Given the description of an element on the screen output the (x, y) to click on. 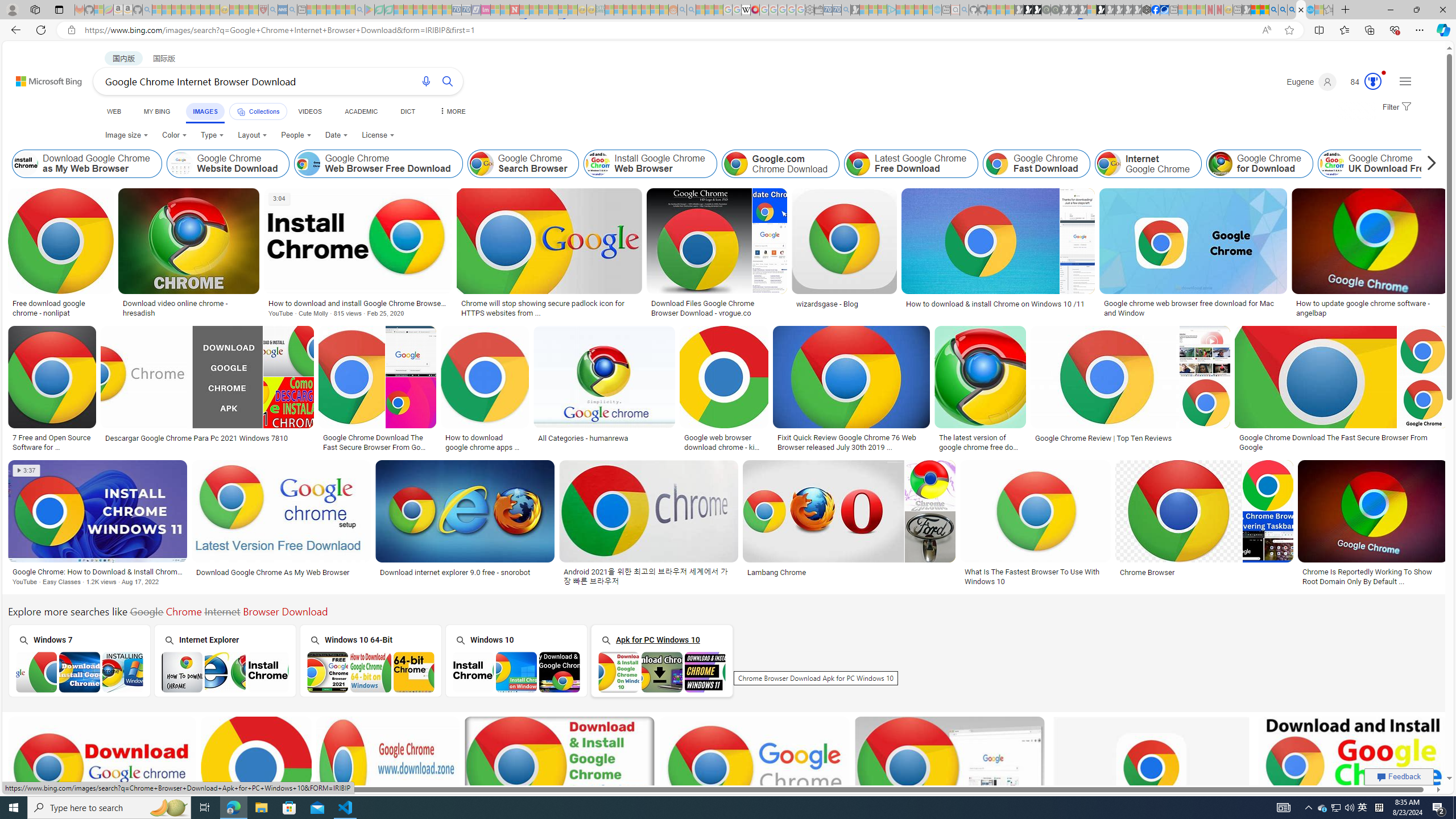
License (377, 135)
How to download & install Chrome on Windows 10 /11 (994, 303)
Download Google Chrome as My Web Browser (87, 163)
Google Chrome Internet Browser Download - Search Images (1300, 9)
Chrome Browser (1203, 571)
Nordace | Facebook (1154, 9)
Dropdown Menu (451, 111)
Download video online chrome - hresadish (188, 307)
